Given the description of an element on the screen output the (x, y) to click on. 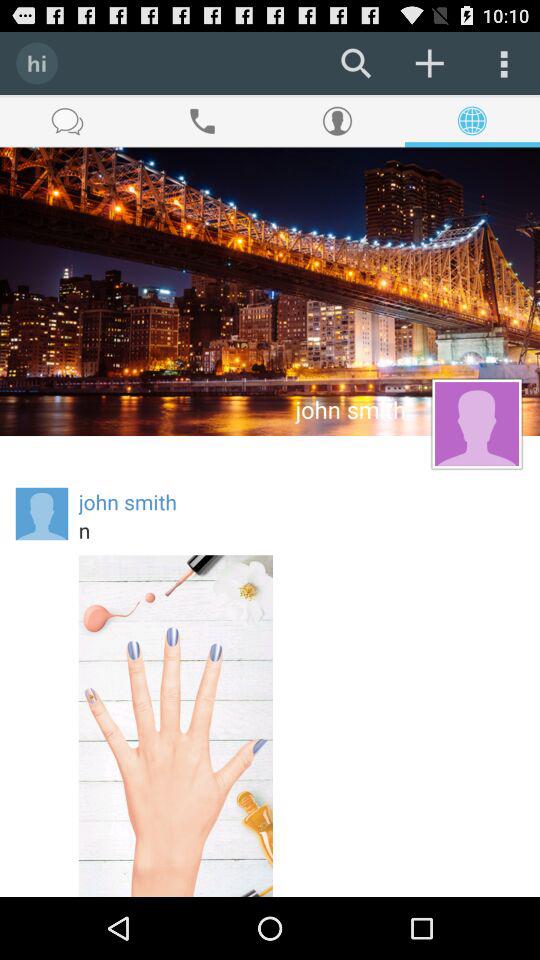
launch the item below the john smith icon (301, 530)
